Given the description of an element on the screen output the (x, y) to click on. 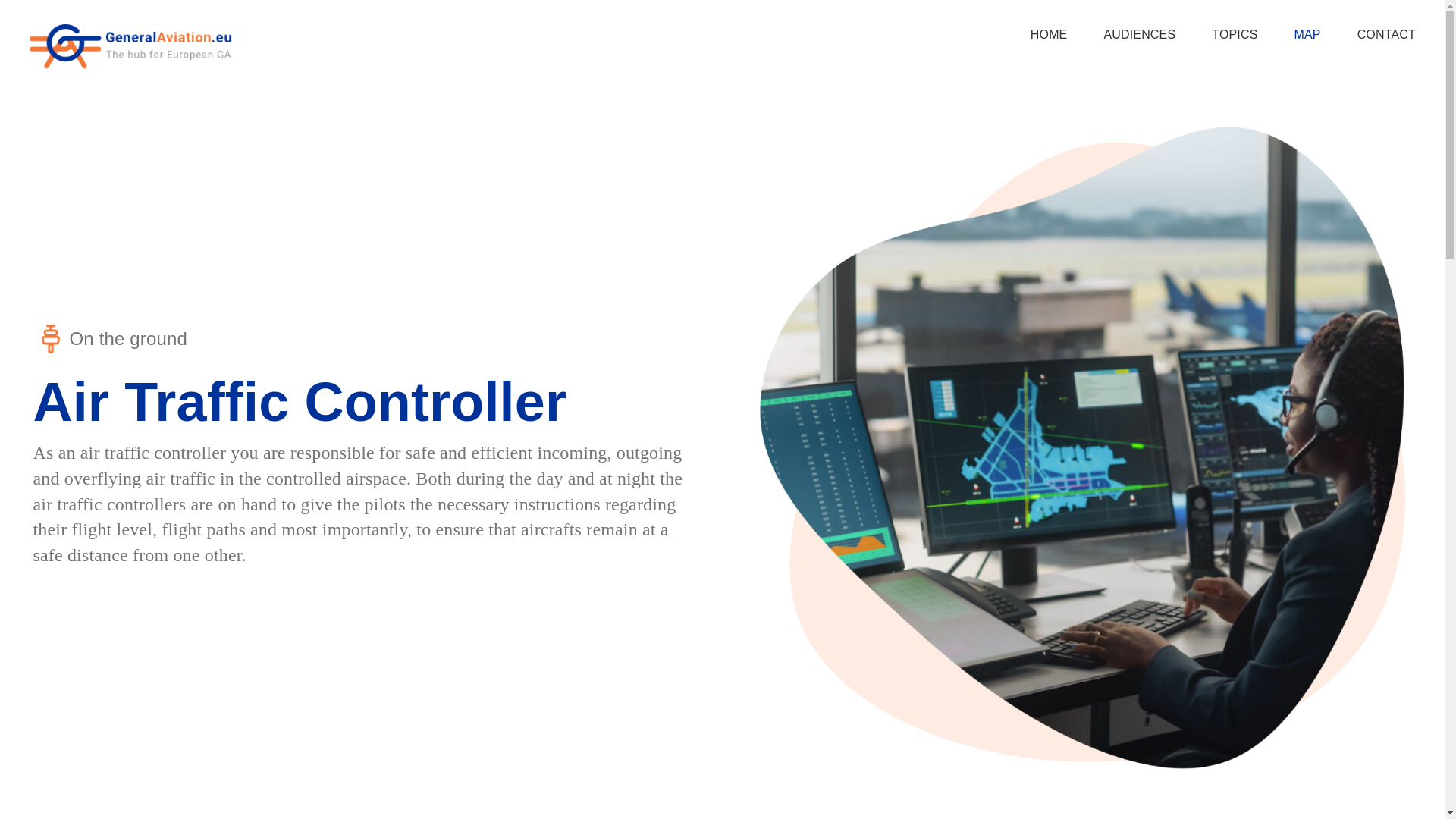
MAP (1307, 33)
TOPICS (1234, 33)
HOME (1048, 33)
CONTACT (1385, 33)
AUDIENCES (1138, 33)
